Given the description of an element on the screen output the (x, y) to click on. 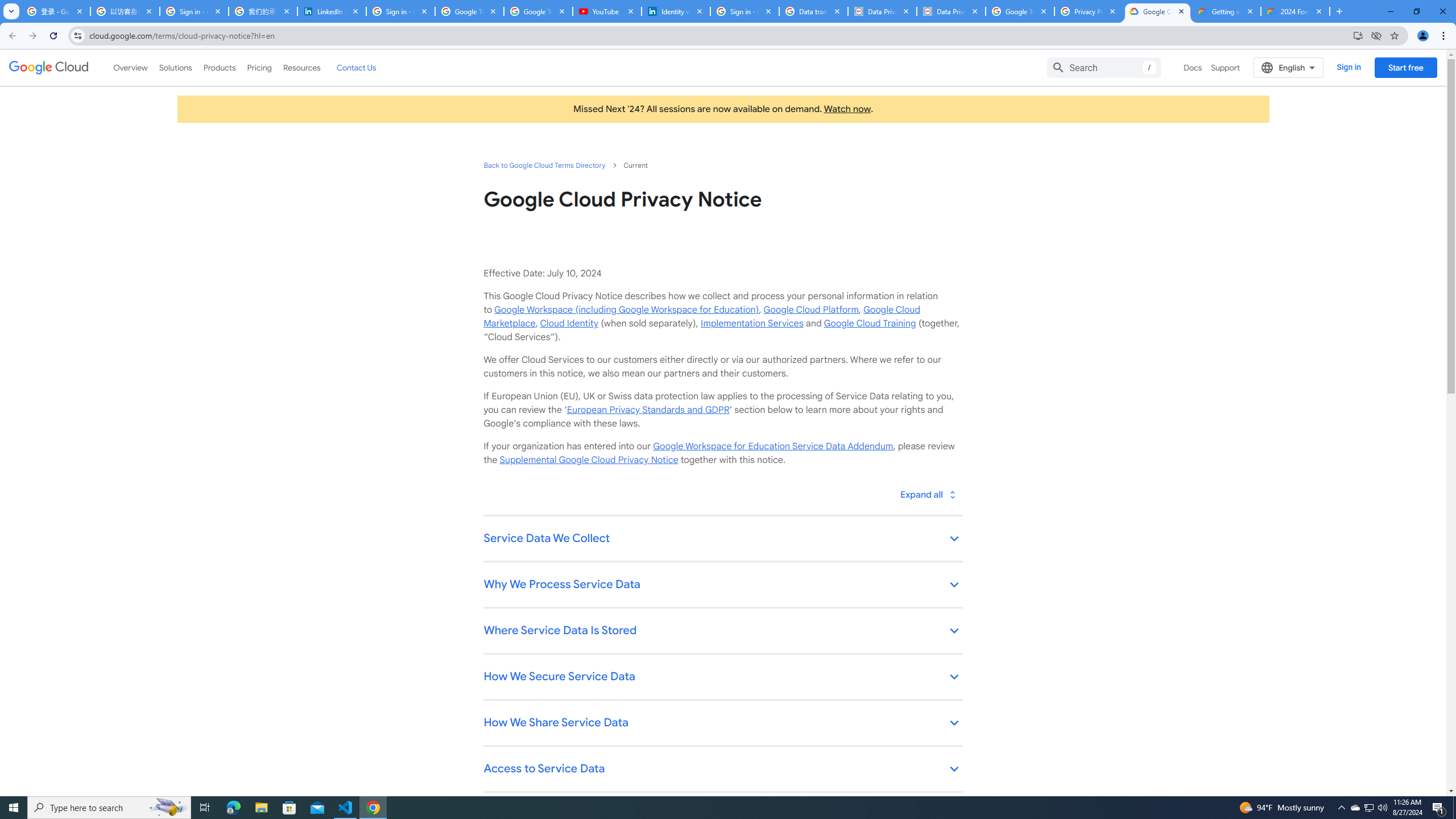
Docs (1192, 67)
Sign in - Google Accounts (194, 11)
Pricing (259, 67)
Watch now (847, 108)
How We Share Service Data keyboard_arrow_down (722, 723)
Solutions (175, 67)
Install Google Cloud (1358, 35)
